Given the description of an element on the screen output the (x, y) to click on. 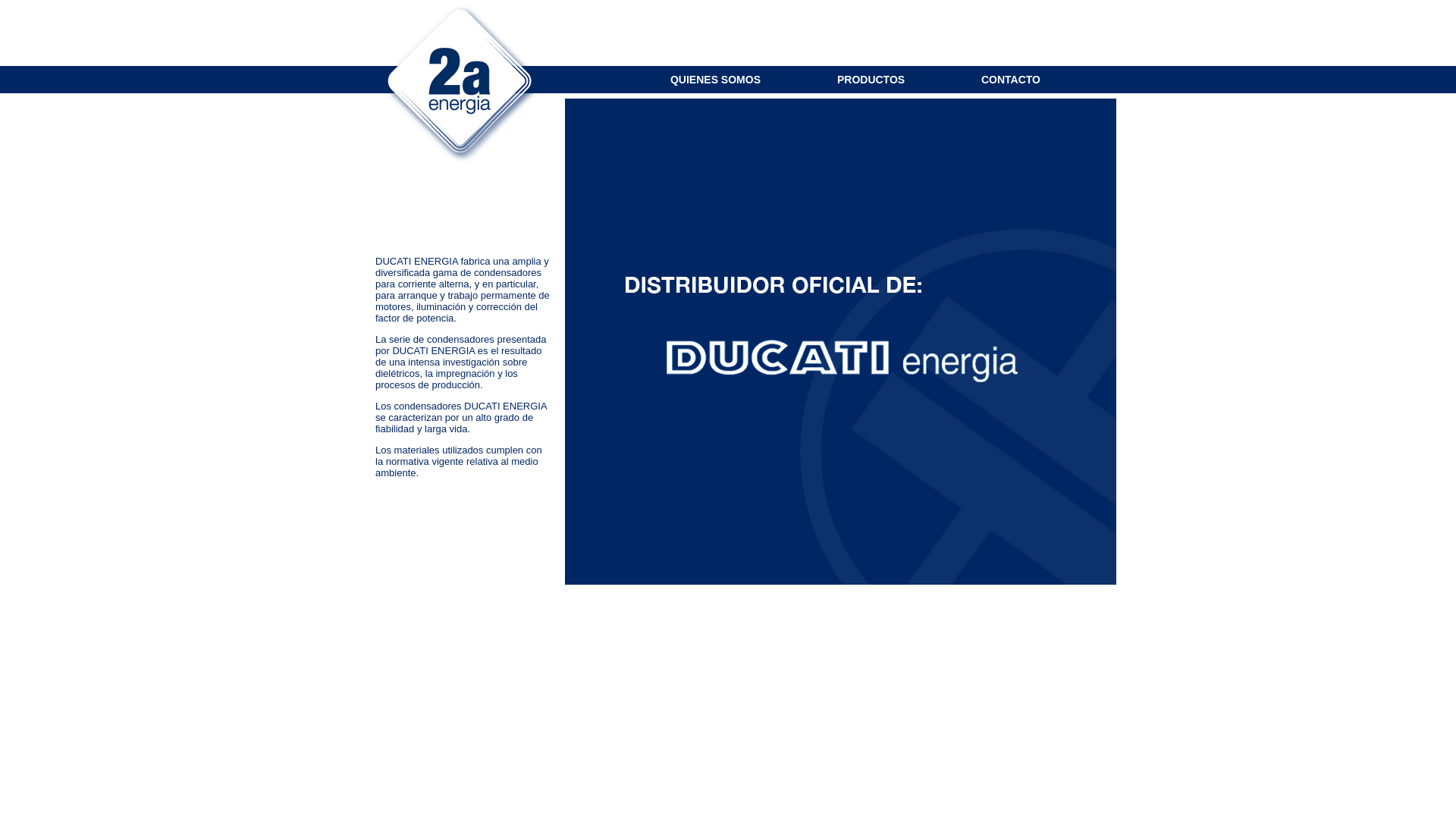
2a energia Element type: text (463, 84)
2a energia Element type: hover (822, 330)
CONTACTO Element type: text (1010, 78)
PRODUCTOS Element type: text (871, 78)
QUIENES SOMOS Element type: text (715, 78)
